Given the description of an element on the screen output the (x, y) to click on. 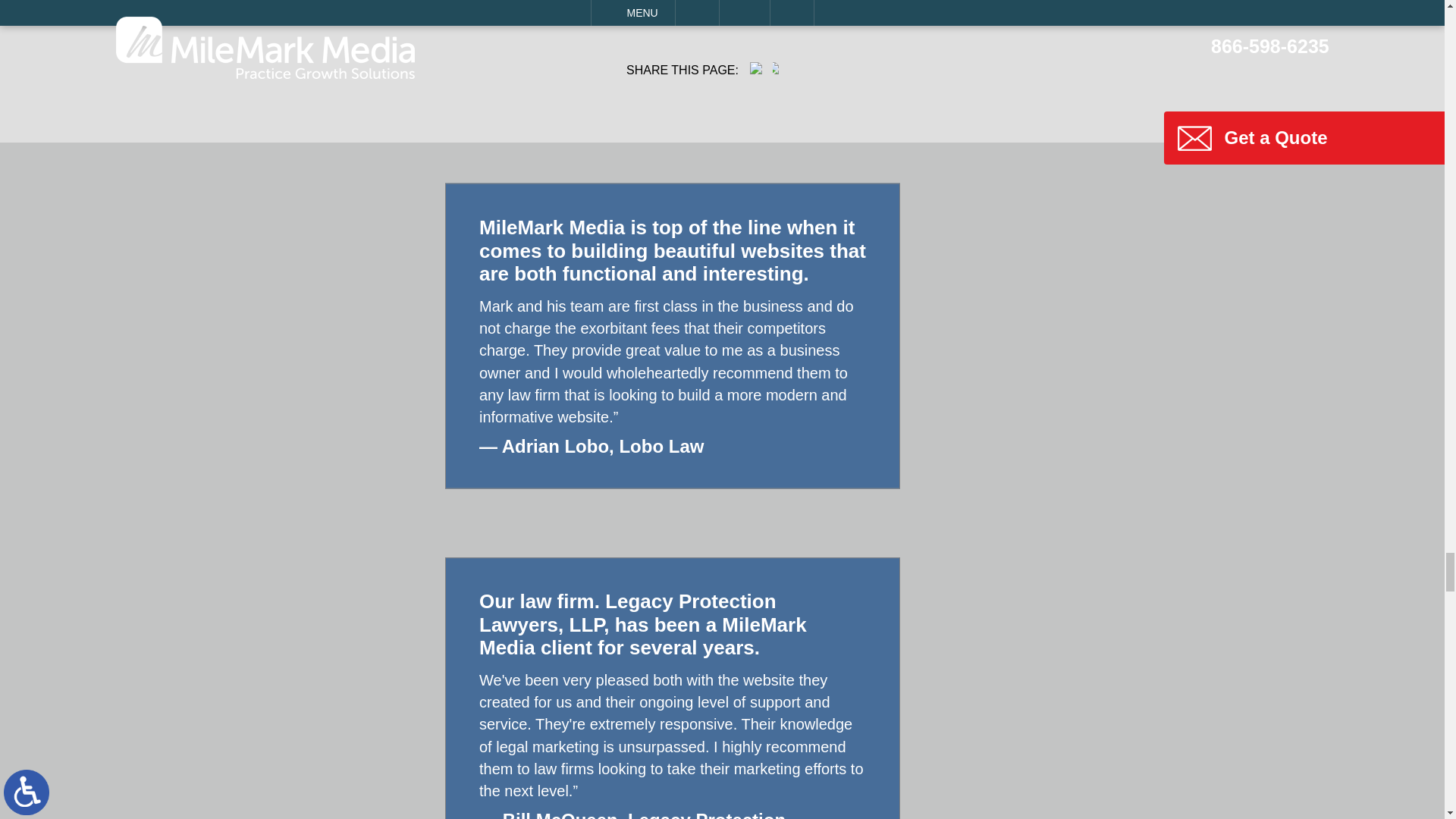
Twitter (772, 68)
Facebook (755, 68)
LinkedIn (788, 68)
